Given the description of an element on the screen output the (x, y) to click on. 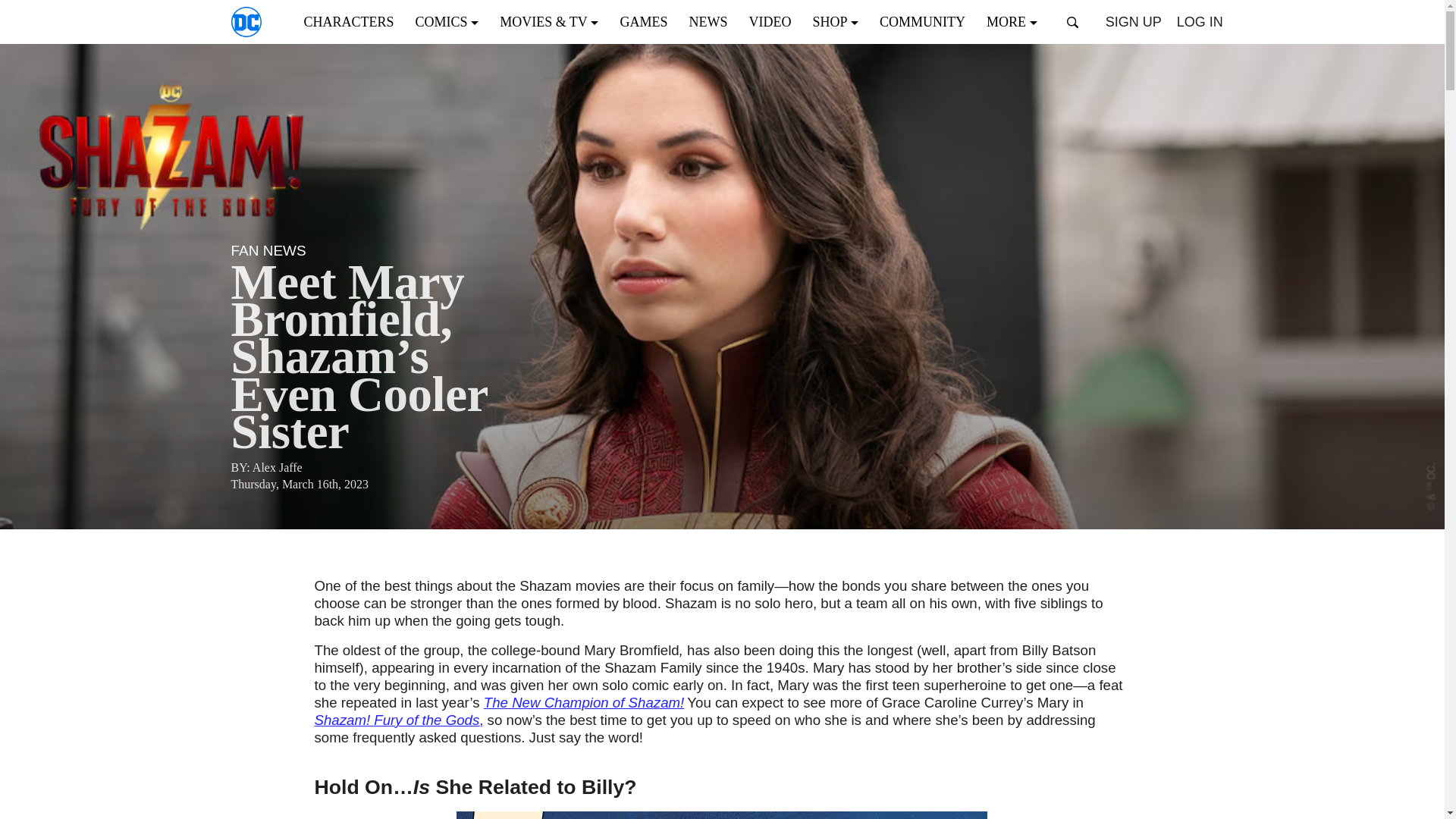
COMICS (452, 21)
CHARACTERS (353, 21)
Open search (1072, 22)
